Given the description of an element on the screen output the (x, y) to click on. 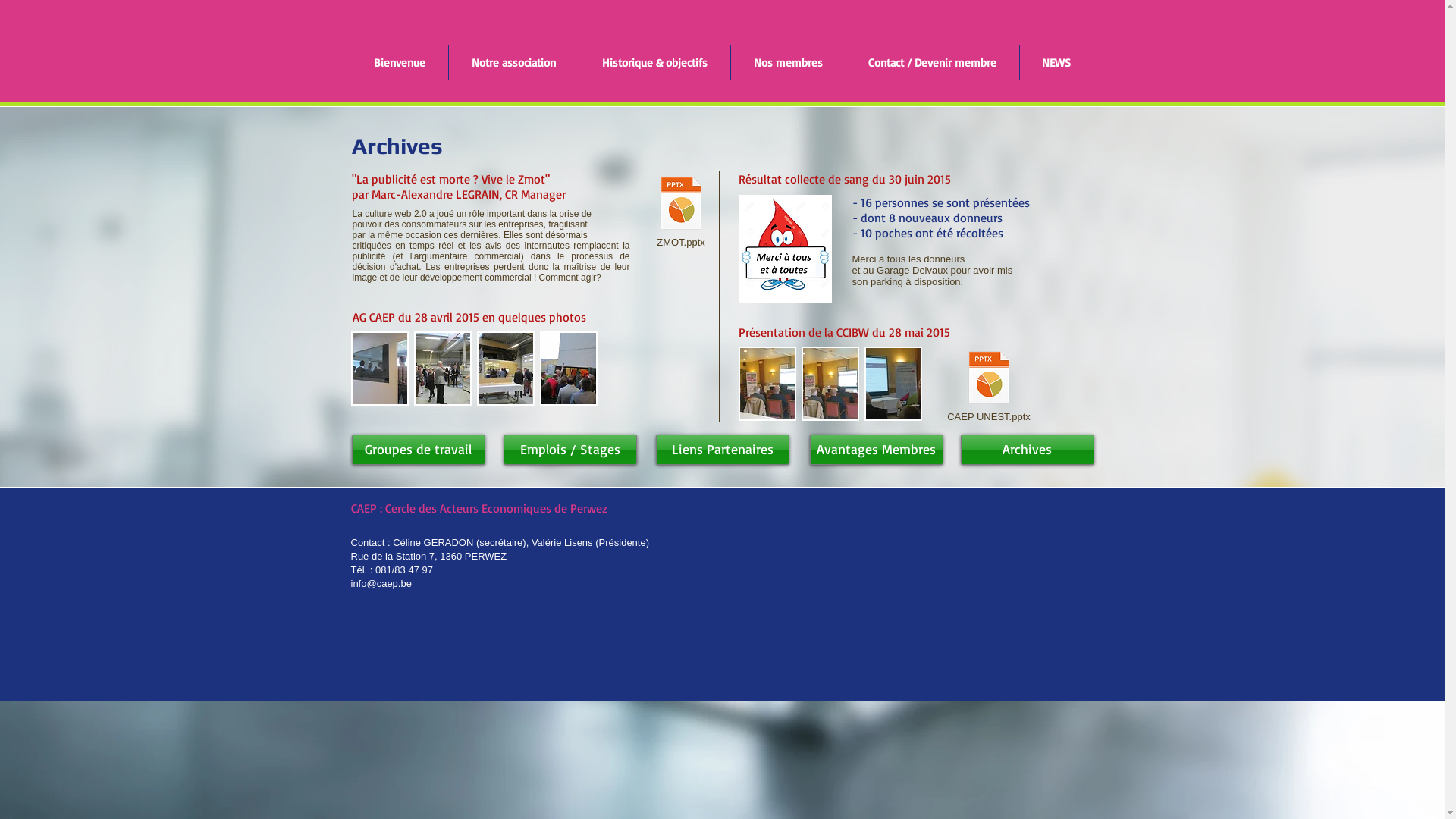
NEWS Element type: text (1055, 62)
CAEP UNEST.pptx Element type: text (988, 386)
Nos membres Element type: text (788, 62)
Emplois / Stages Element type: text (570, 449)
info@caep.be Element type: text (380, 583)
Notre association Element type: text (513, 62)
ZMOT.pptx Element type: text (680, 212)
Contact / Devenir membre Element type: text (932, 62)
Bienvenue Element type: text (398, 62)
Historique & objectifs Element type: text (654, 62)
Groupes de travail Element type: text (418, 449)
Avantages Membres Element type: text (876, 449)
Liens Partenaires Element type: text (721, 449)
Archives Element type: text (1026, 449)
